Given the description of an element on the screen output the (x, y) to click on. 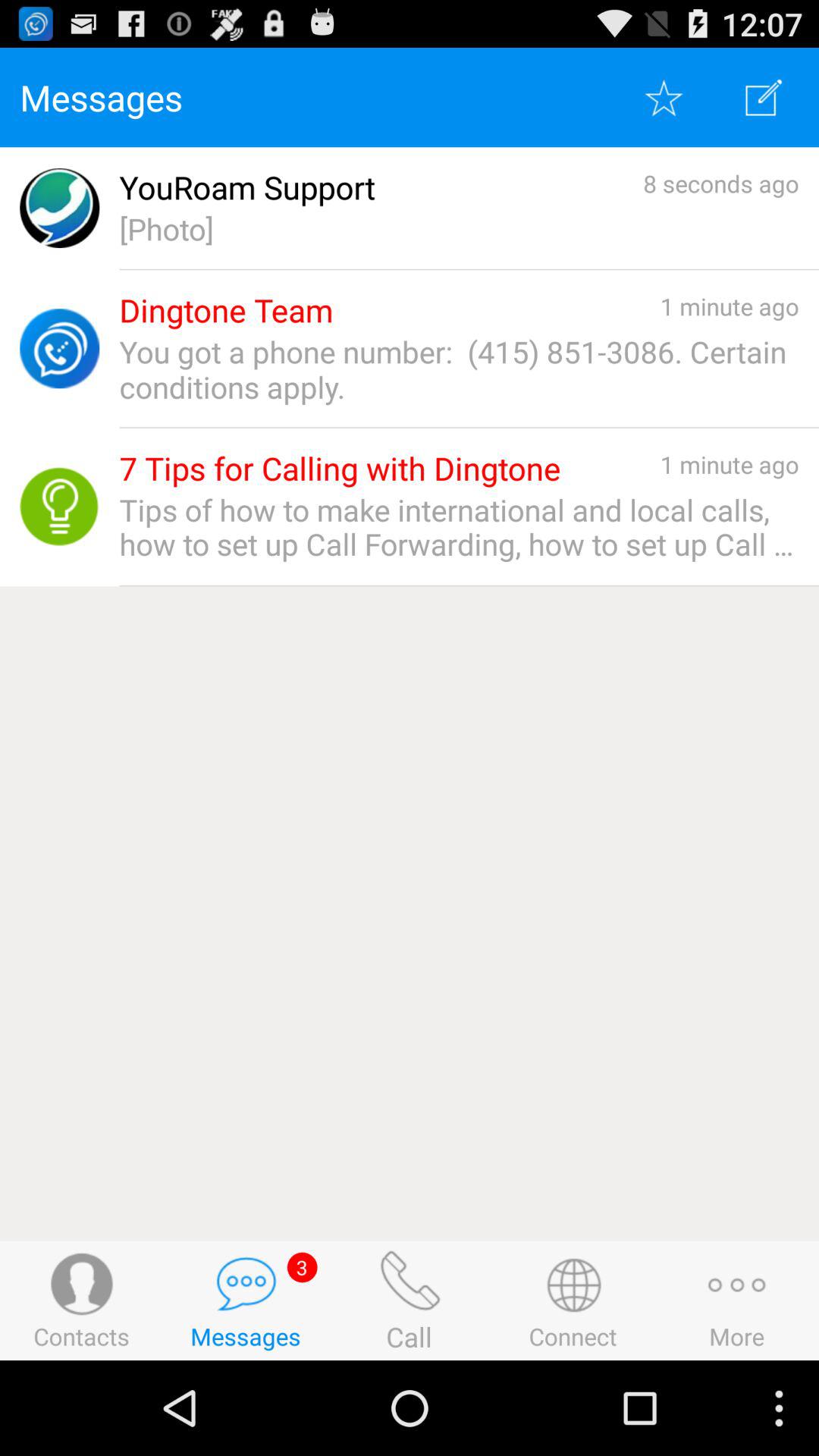
scroll to tips of how item (459, 527)
